Given the description of an element on the screen output the (x, y) to click on. 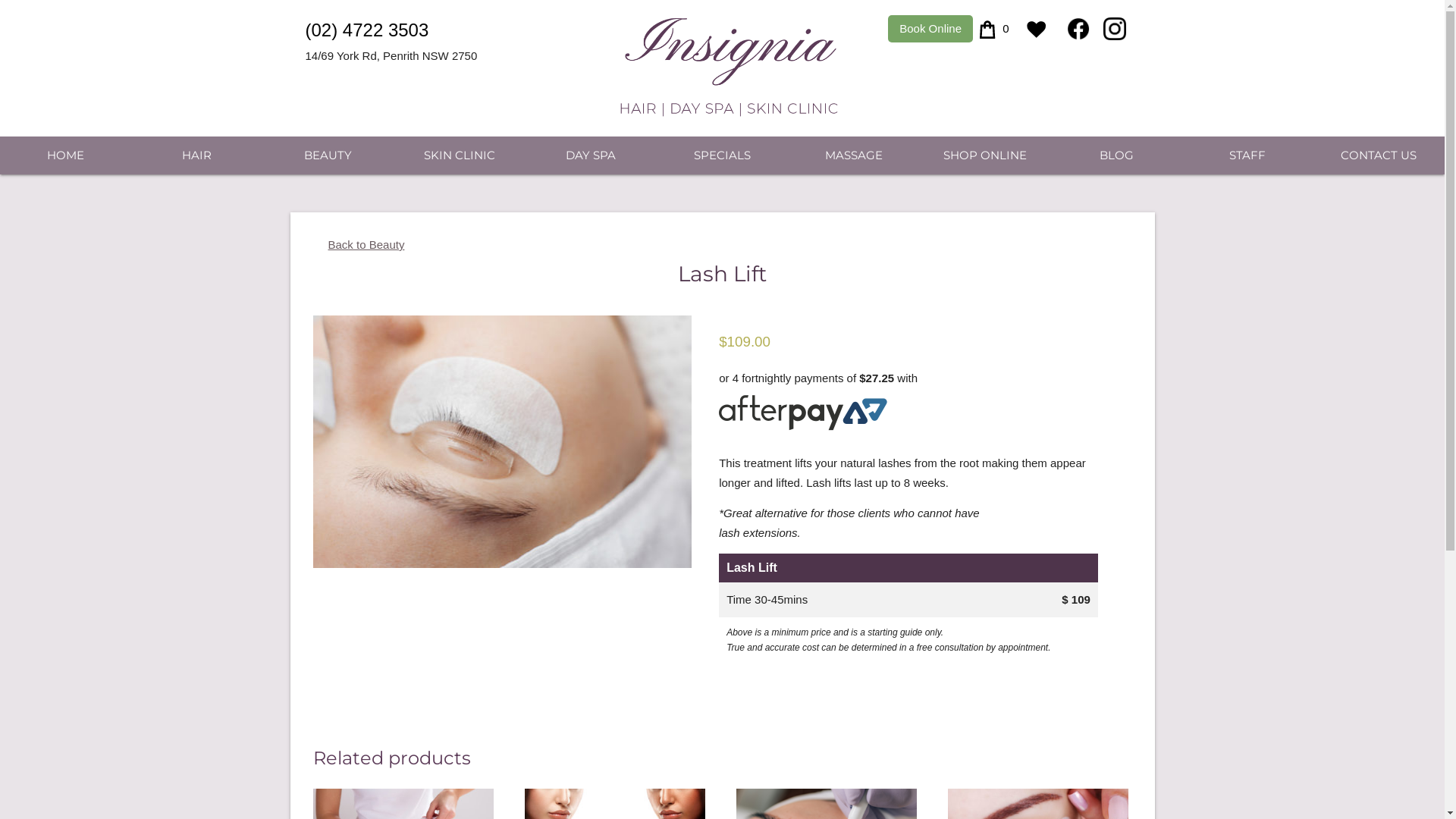
Follow Us On Facebook Element type: hover (1077, 28)
Back to Beauty Element type: text (358, 244)
BEAUTY Element type: text (327, 155)
SHOP ONLINE Element type: text (984, 155)
SKIN CLINIC Element type: text (459, 155)
BLOG Element type: text (1116, 155)
(02) 4722 3503 Element type: text (366, 29)
Book Online Element type: text (930, 28)
HAIR Element type: text (196, 155)
Follow Us On Instagram Element type: hover (1113, 28)
STAFF Element type: text (1247, 155)
SPECIALS Element type: text (721, 155)
MASSAGE Element type: text (853, 155)
Lashlift Element type: hover (501, 441)
HOME Element type: text (65, 155)
DAY SPA Element type: text (590, 155)
0 Element type: text (994, 27)
CONTACT US Element type: text (1378, 155)
